Given the description of an element on the screen output the (x, y) to click on. 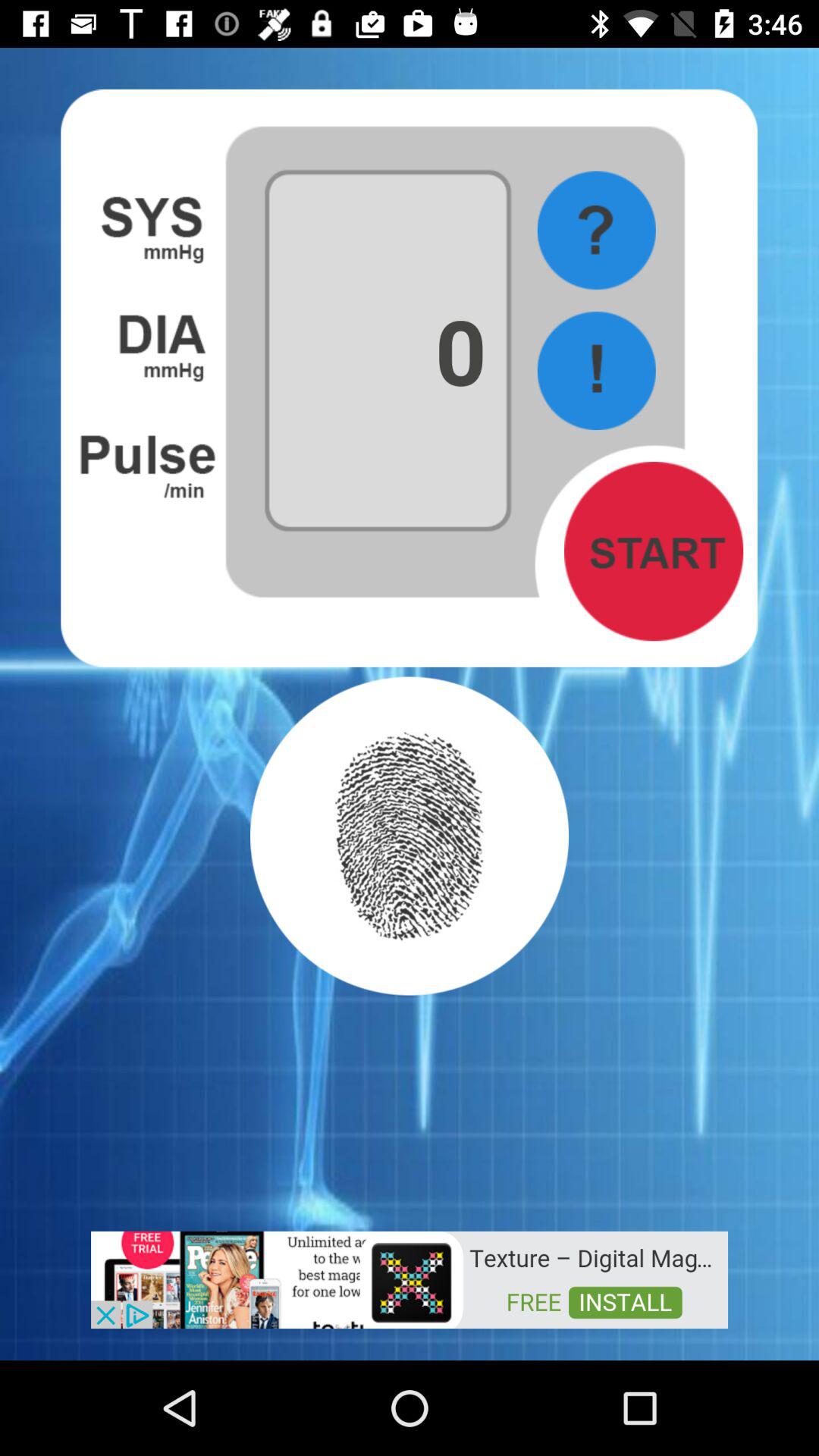
start blood pressure reading (653, 550)
